Given the description of an element on the screen output the (x, y) to click on. 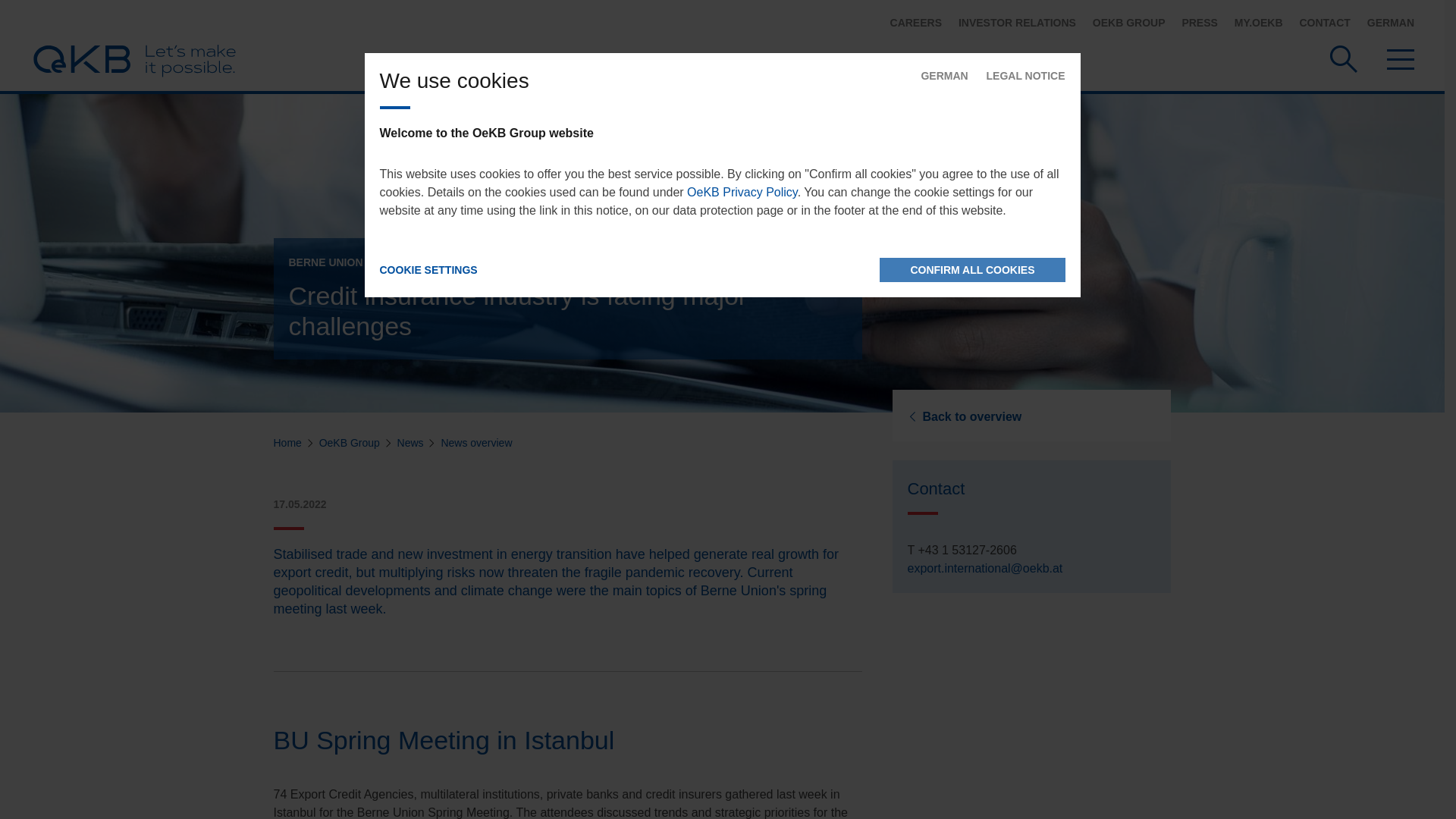
OEKB GROUP (1129, 22)
Contact (1323, 22)
Investor Relations (1016, 22)
OeKB Group (1129, 22)
Press (1198, 22)
Legal notice (1026, 75)
INVESTOR RELATIONS (1016, 22)
my.oekb (1258, 22)
PRESS (1198, 22)
CONTACT (1323, 22)
CAREERS (915, 22)
MY.OEKB (1258, 22)
GERMAN (1390, 22)
Careers (915, 22)
